Given the description of an element on the screen output the (x, y) to click on. 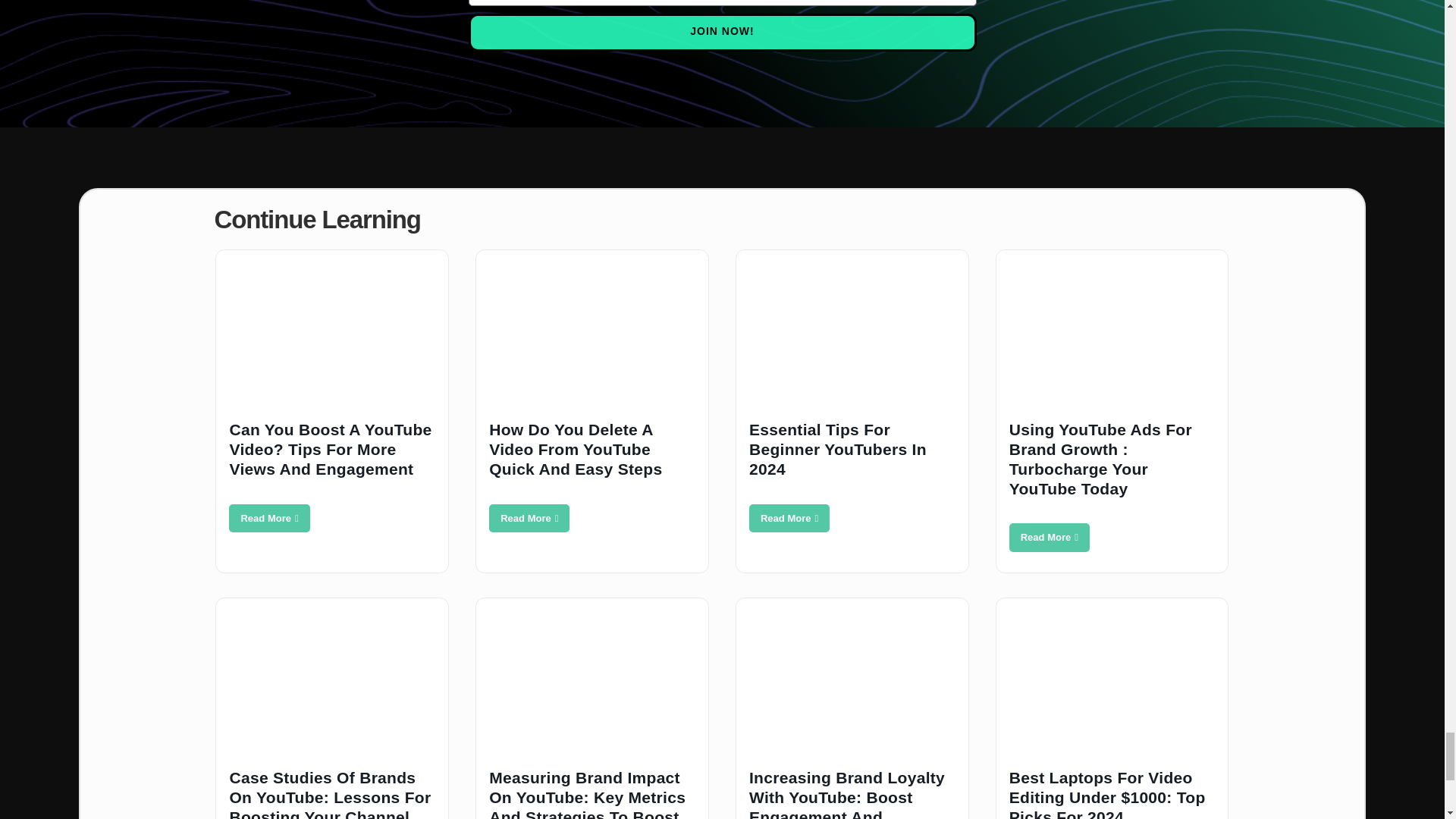
How Do You Delete a Video from YouTube Quick and Easy Steps (529, 518)
Essential Tips for Beginner YouTubers in 2024 (789, 518)
